Given the description of an element on the screen output the (x, y) to click on. 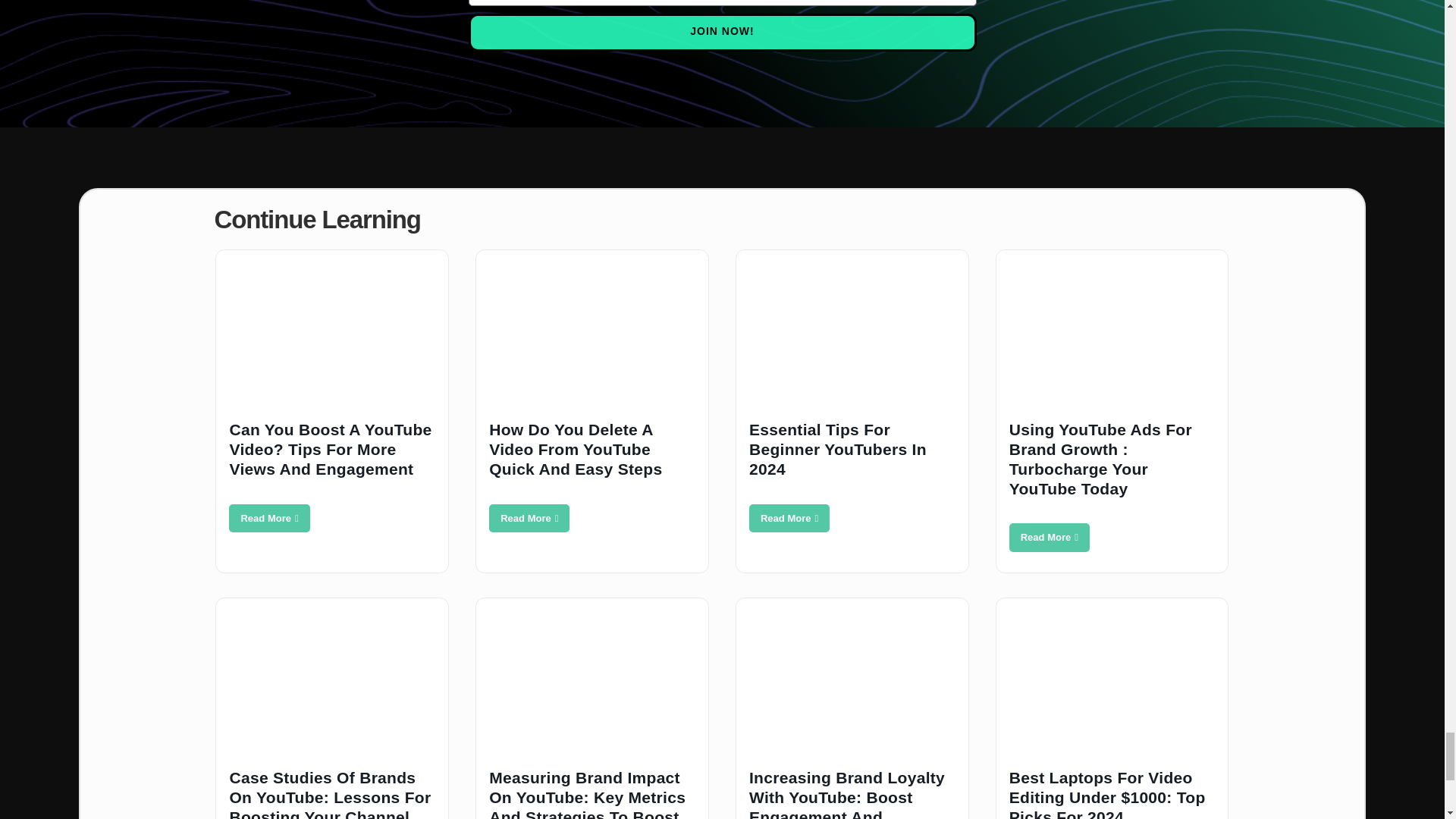
How Do You Delete a Video from YouTube Quick and Easy Steps (529, 518)
Essential Tips for Beginner YouTubers in 2024 (789, 518)
